Given the description of an element on the screen output the (x, y) to click on. 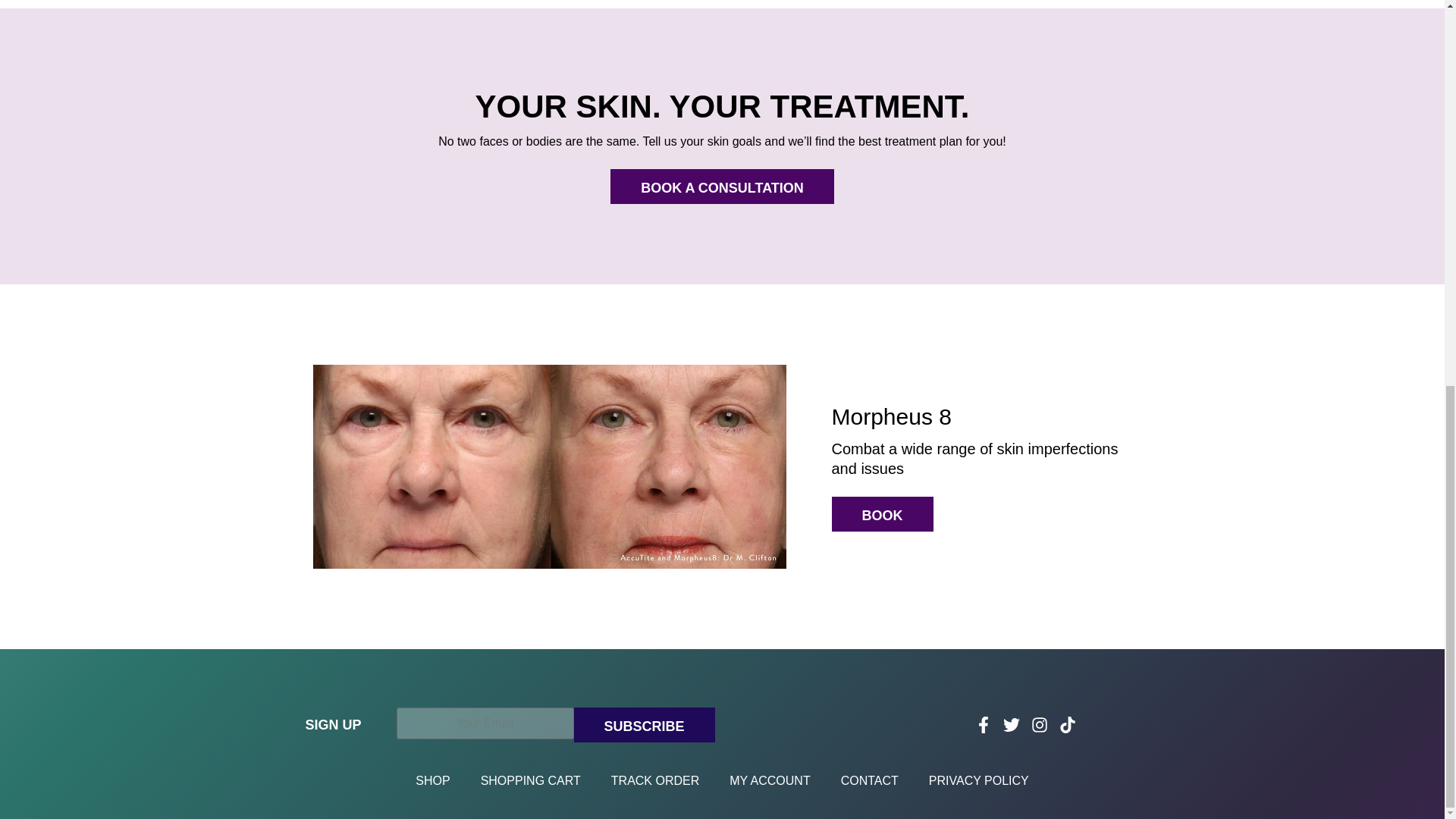
Page 3 (981, 458)
